Given the description of an element on the screen output the (x, y) to click on. 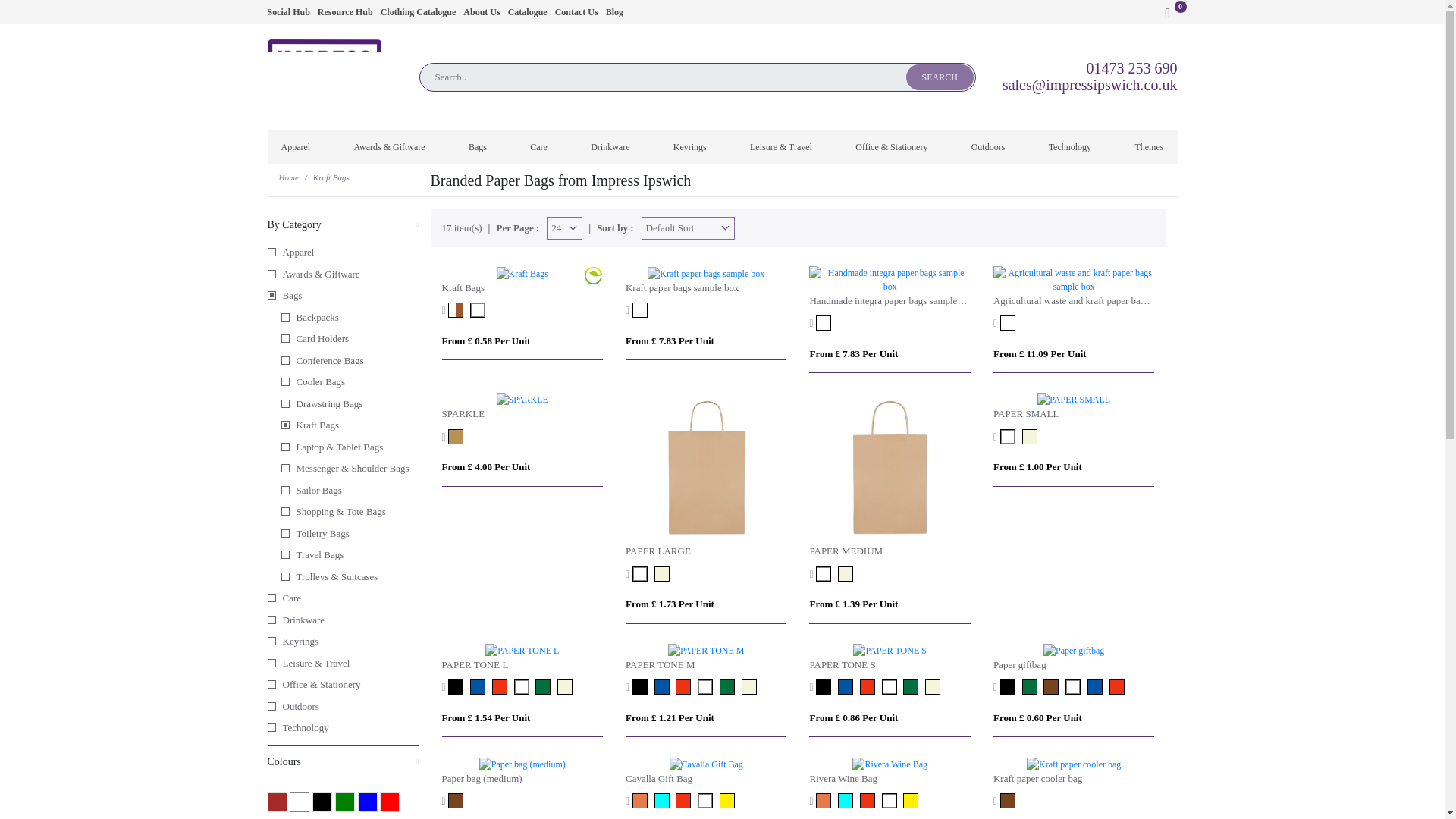
Eco Friendly (592, 275)
Black (322, 802)
Blog (614, 11)
KRBAG (479, 309)
Contact Us (576, 11)
01473 253 690 (1131, 67)
Catalogue (527, 11)
Blue (367, 802)
1PW00401 (824, 322)
Green (344, 802)
